Given the description of an element on the screen output the (x, y) to click on. 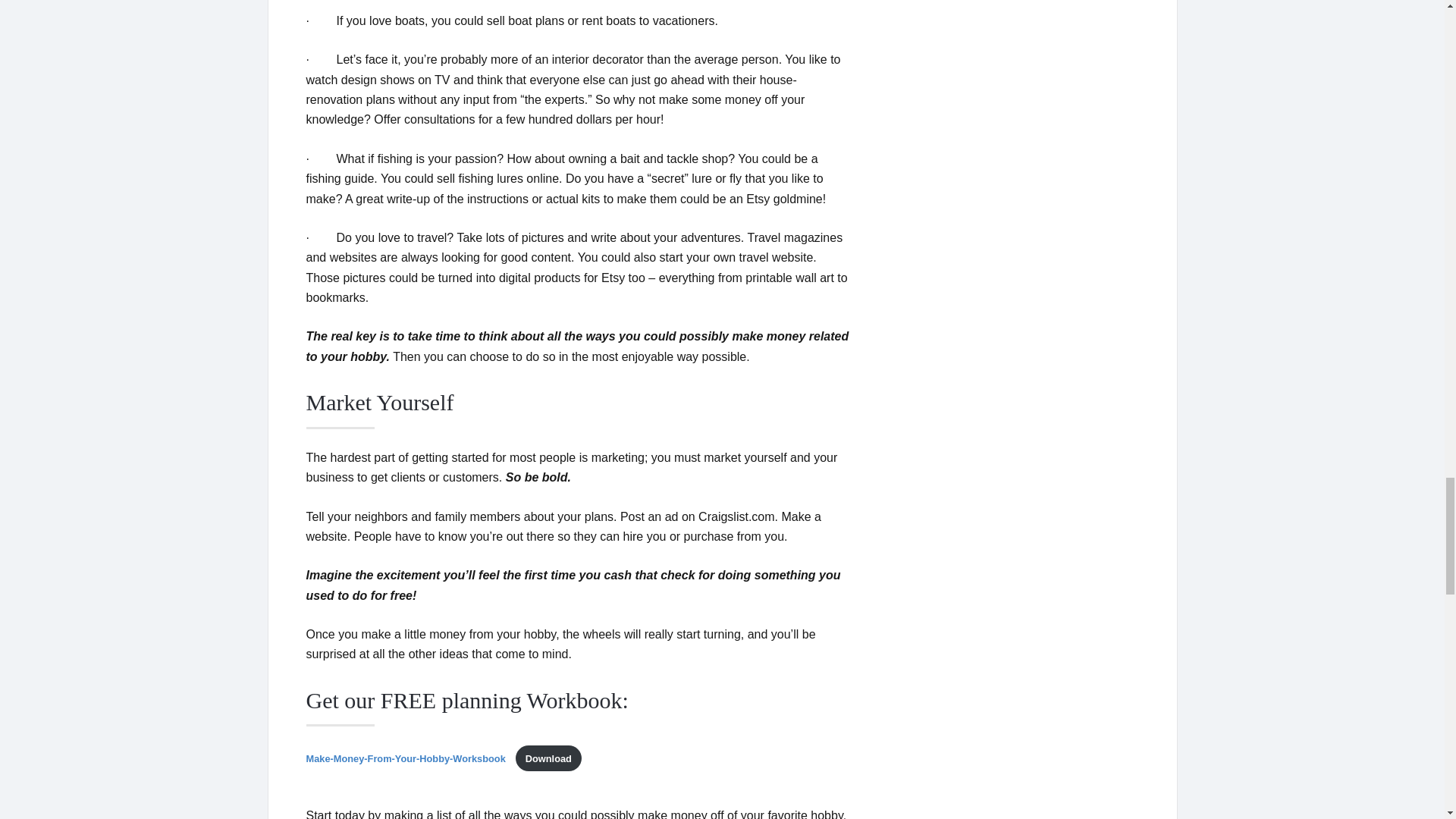
Download (547, 758)
Make-Money-From-Your-Hobby-Worksbook (406, 758)
